Given the description of an element on the screen output the (x, y) to click on. 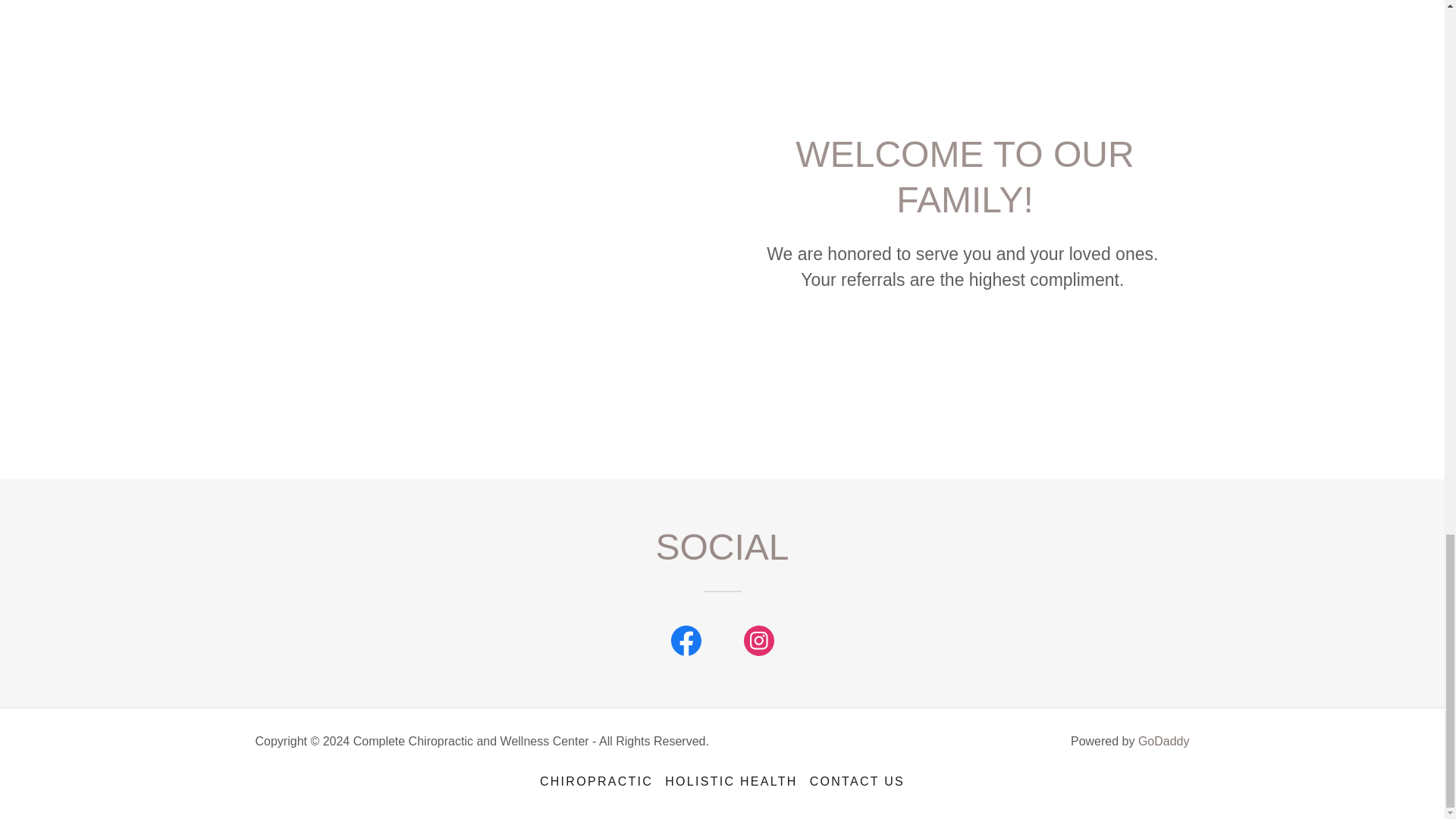
CHIROPRACTIC (596, 781)
HOLISTIC HEALTH (731, 781)
CONTACT US (857, 781)
GoDaddy (1163, 740)
